Given the description of an element on the screen output the (x, y) to click on. 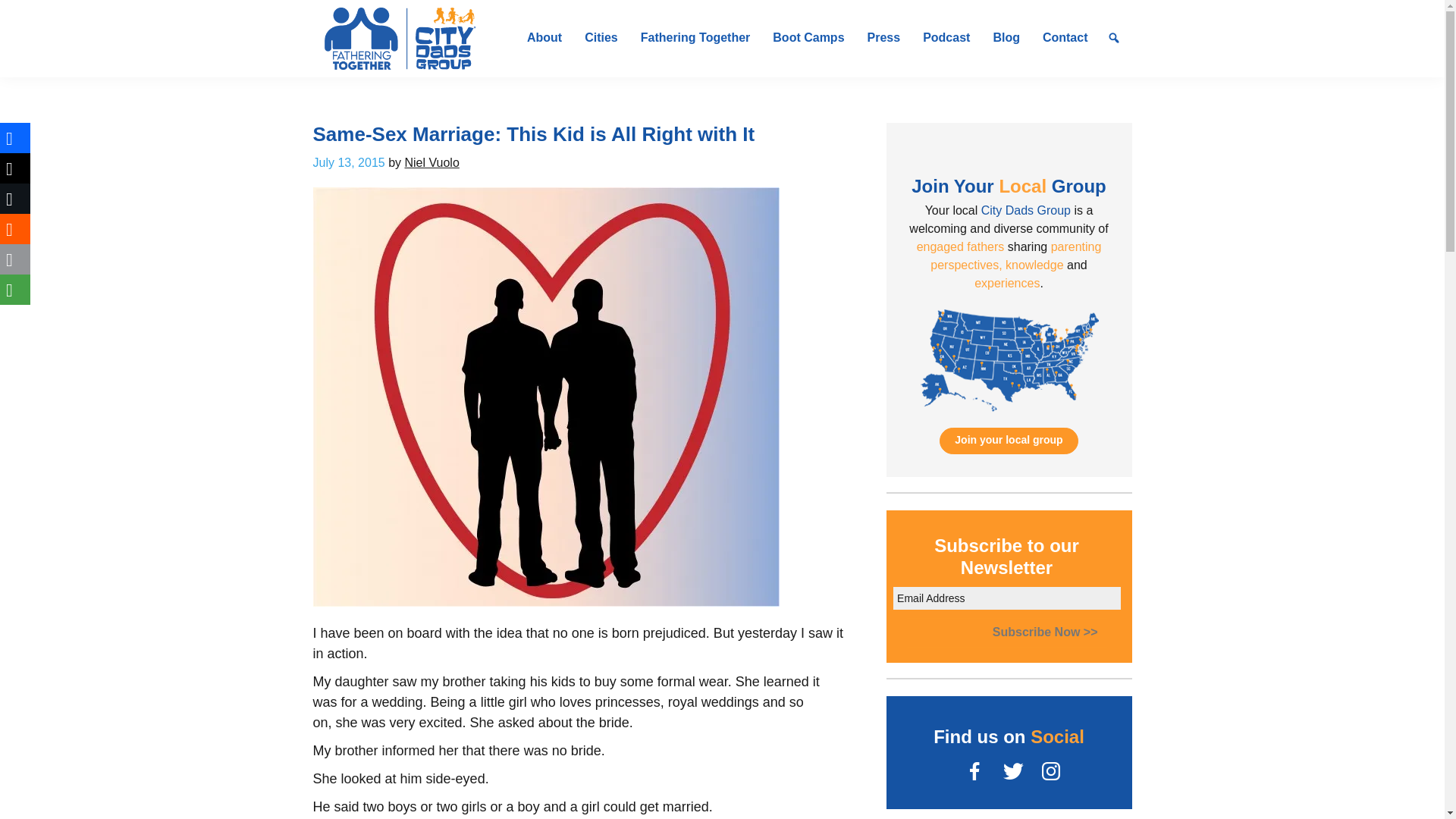
Press (884, 37)
Niel Vuolo (431, 162)
Threads (15, 168)
Boot Camps (808, 37)
Blog (1005, 37)
Contact (1064, 37)
Facebook (15, 137)
Podcast (946, 37)
Cities (600, 37)
About (544, 37)
Fathering Together (694, 37)
